Given the description of an element on the screen output the (x, y) to click on. 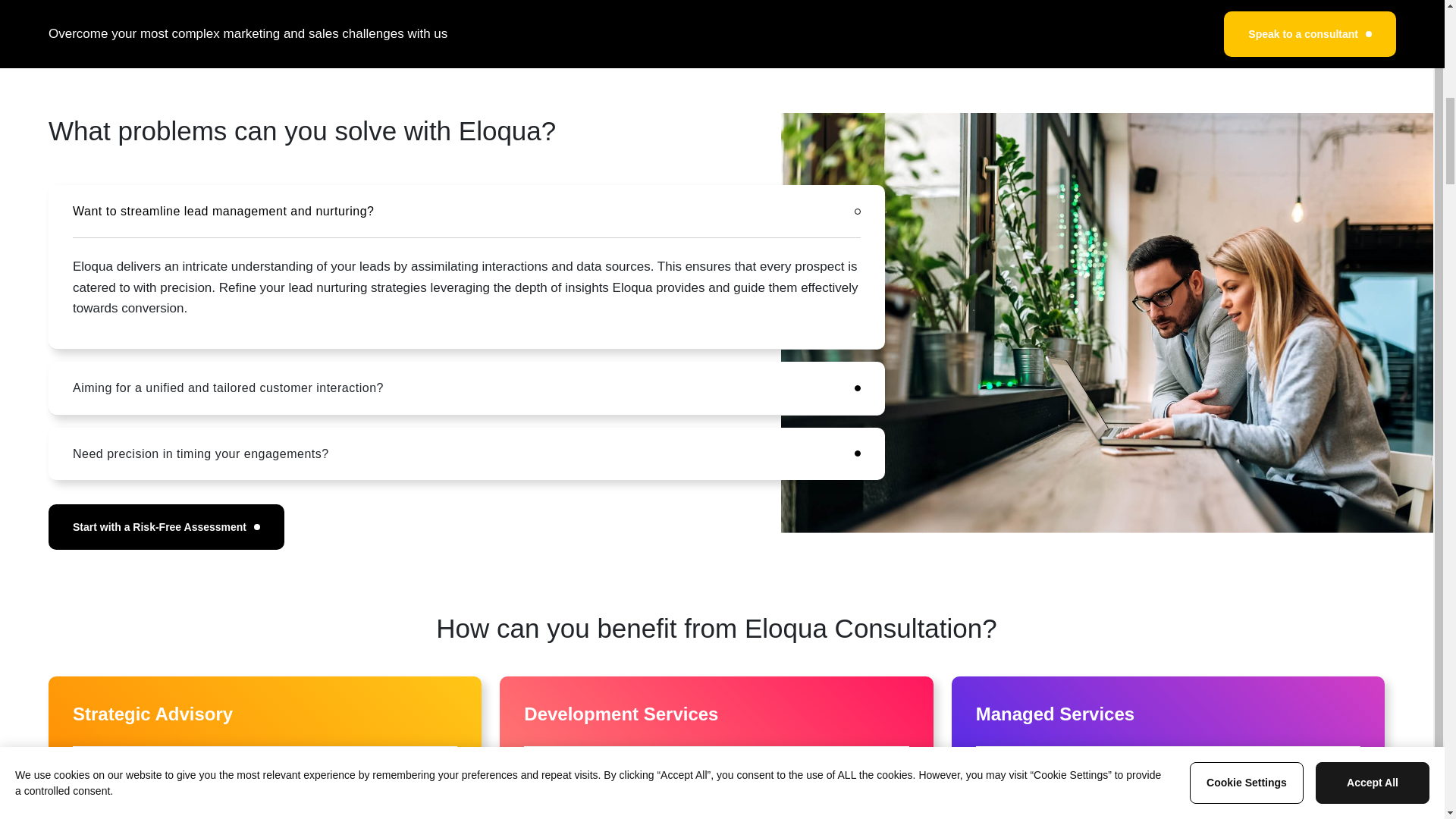
Aiming for a unified and tailored customer interaction? (466, 388)
Want to streamline lead management and nurturing? (466, 211)
Start with a Risk-Free Assessment (165, 526)
Need precision in timing your engagements? (466, 453)
